Given the description of an element on the screen output the (x, y) to click on. 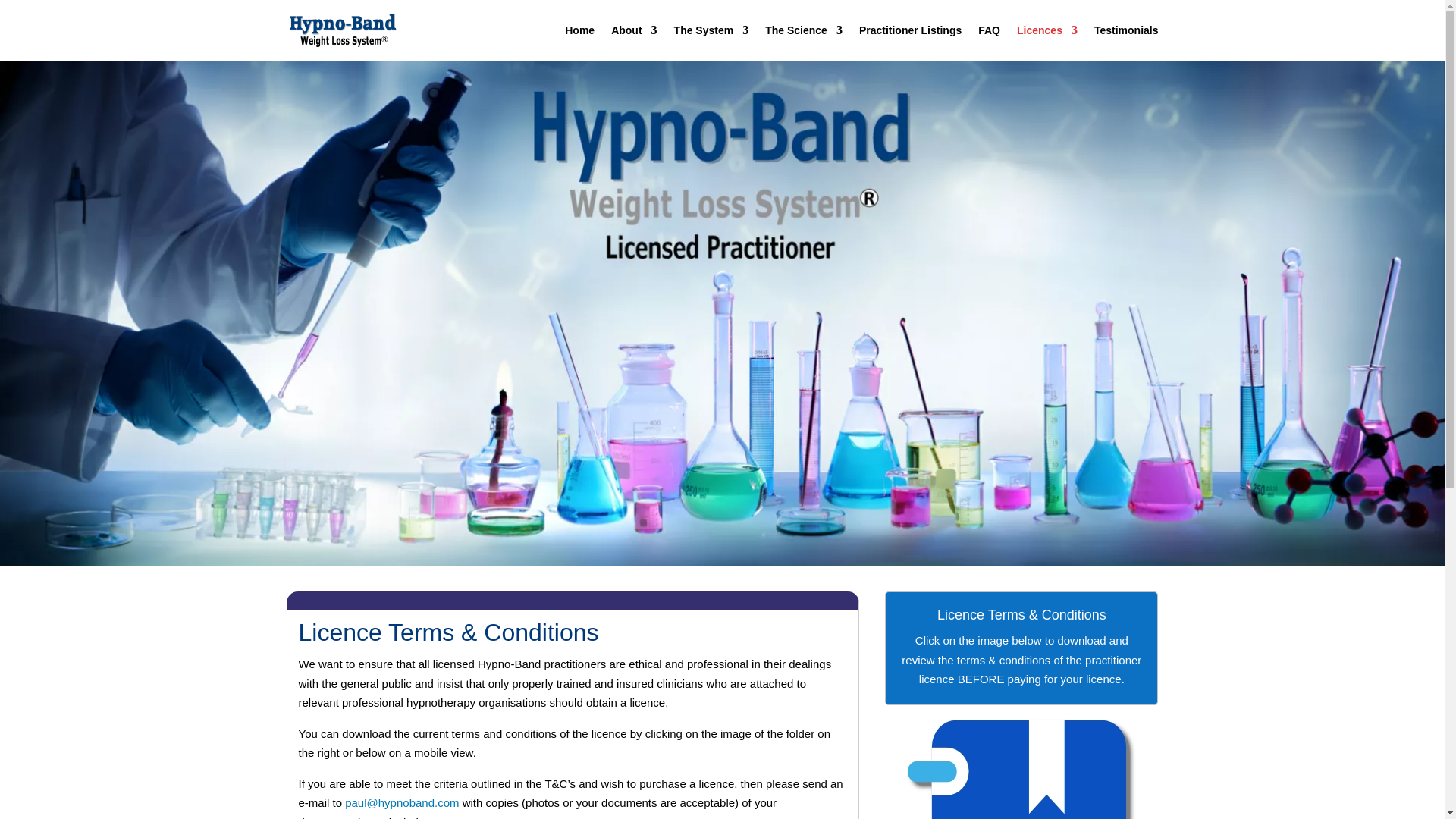
The System (711, 42)
About (633, 42)
All about becoming a Hypno-Band Practitioner (1046, 42)
The Science (804, 42)
Testimonials (1126, 42)
Licences (1046, 42)
Practitioner Listings (909, 42)
